Given the description of an element on the screen output the (x, y) to click on. 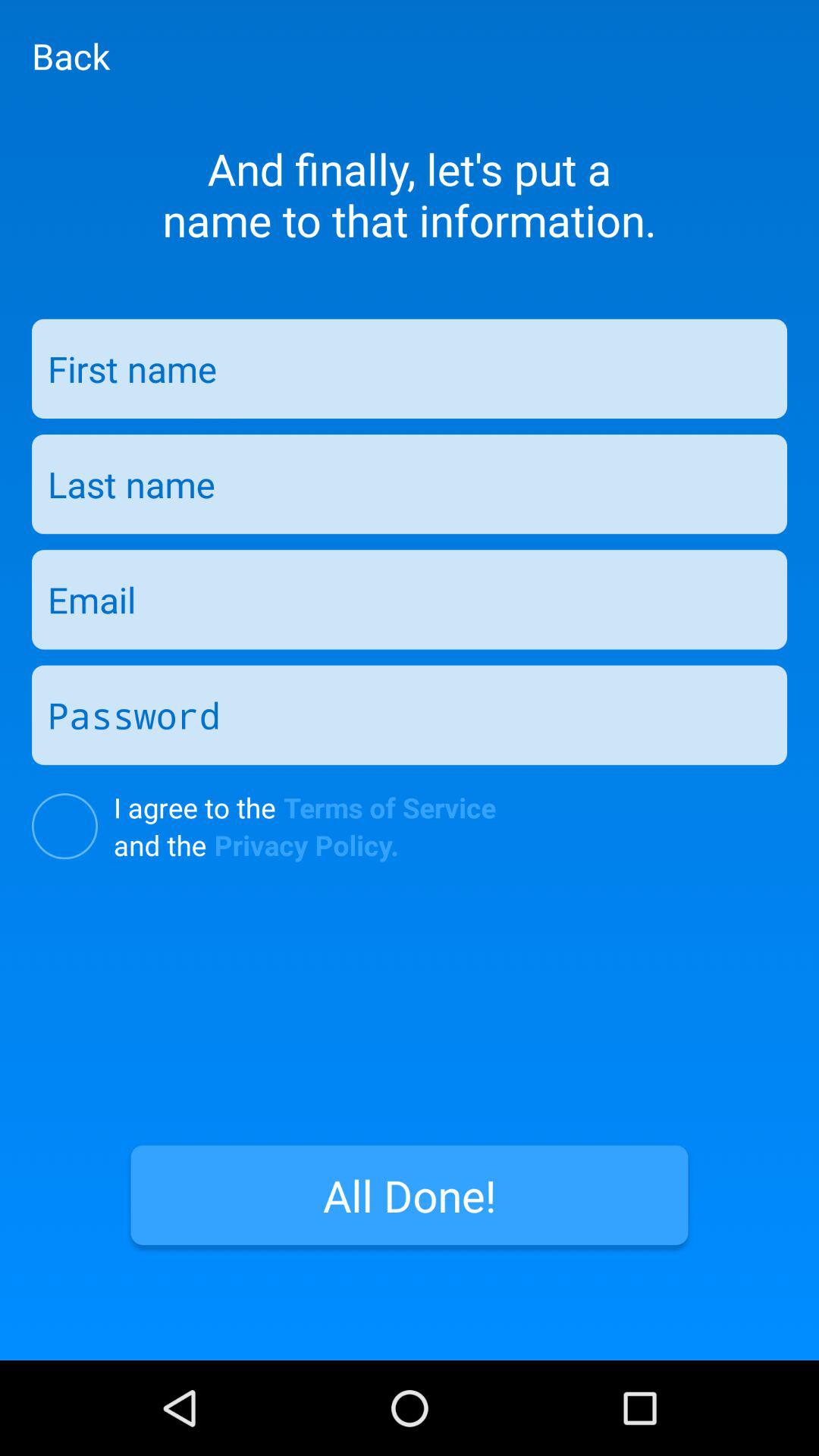
enter last name (409, 484)
